Given the description of an element on the screen output the (x, y) to click on. 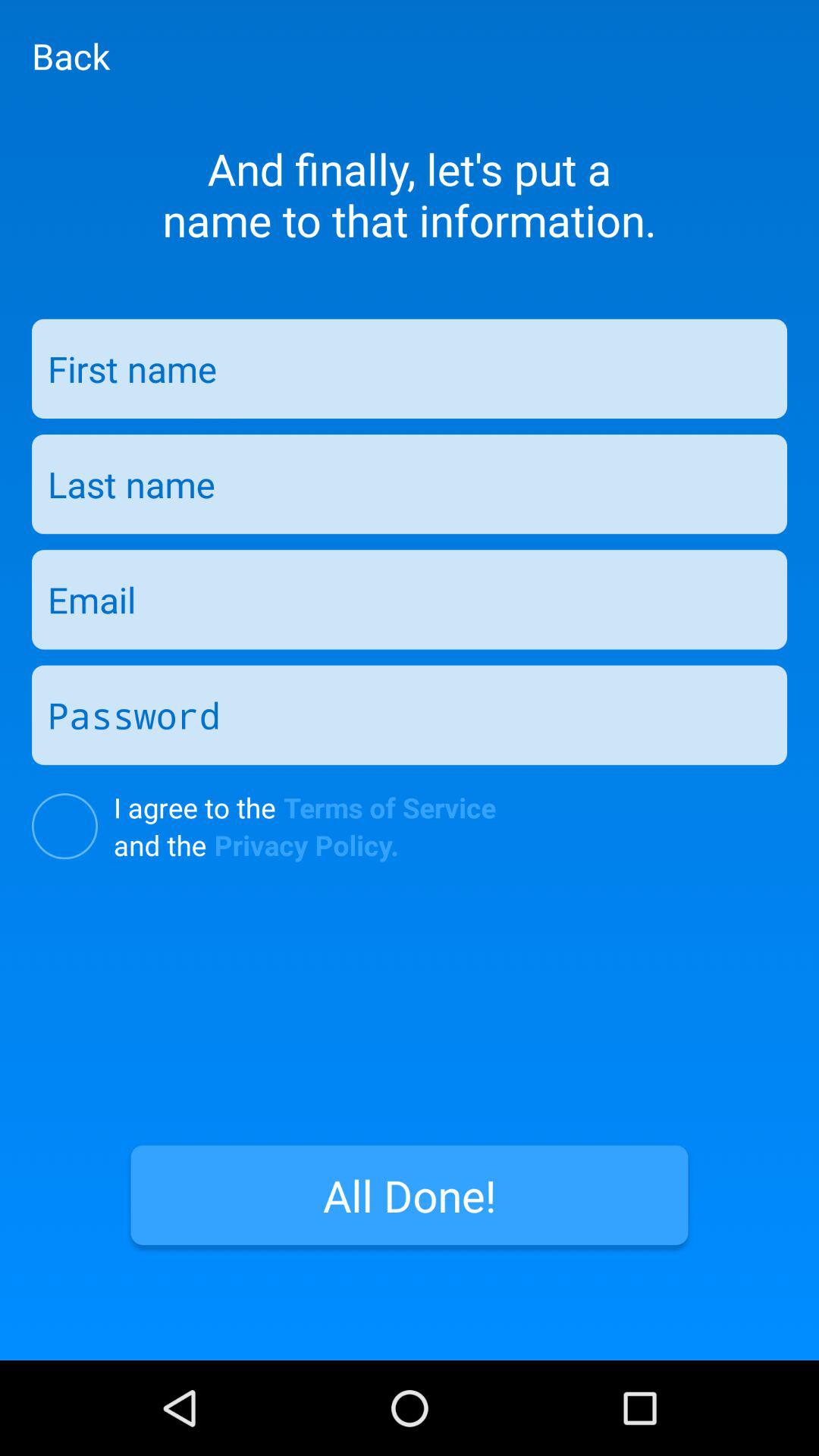
enter last name (409, 484)
